Given the description of an element on the screen output the (x, y) to click on. 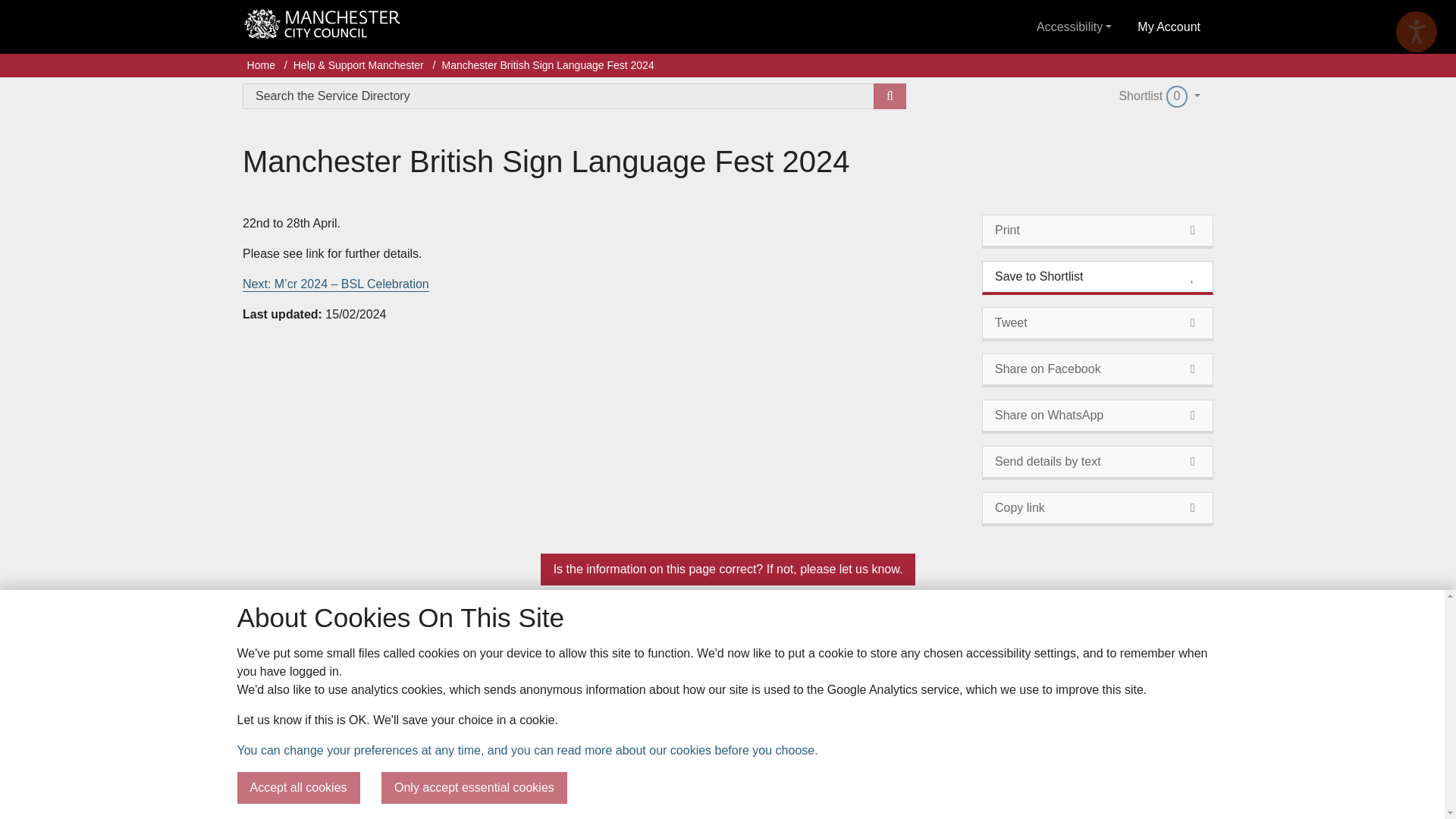
Manchester City Council (314, 699)
Sign up for our bulletin (1025, 709)
Tweet (1096, 324)
Search (889, 95)
My Account (1168, 27)
Manchester City Council (322, 28)
Copy link (1158, 96)
Share on Facebook (1096, 509)
Only accept essential cookies (1096, 369)
Send details by text (474, 787)
Share on WhatsApp (1096, 462)
Listen with the ReachDeck Toolbar (1096, 416)
Save to Shortlist (1416, 31)
